Given the description of an element on the screen output the (x, y) to click on. 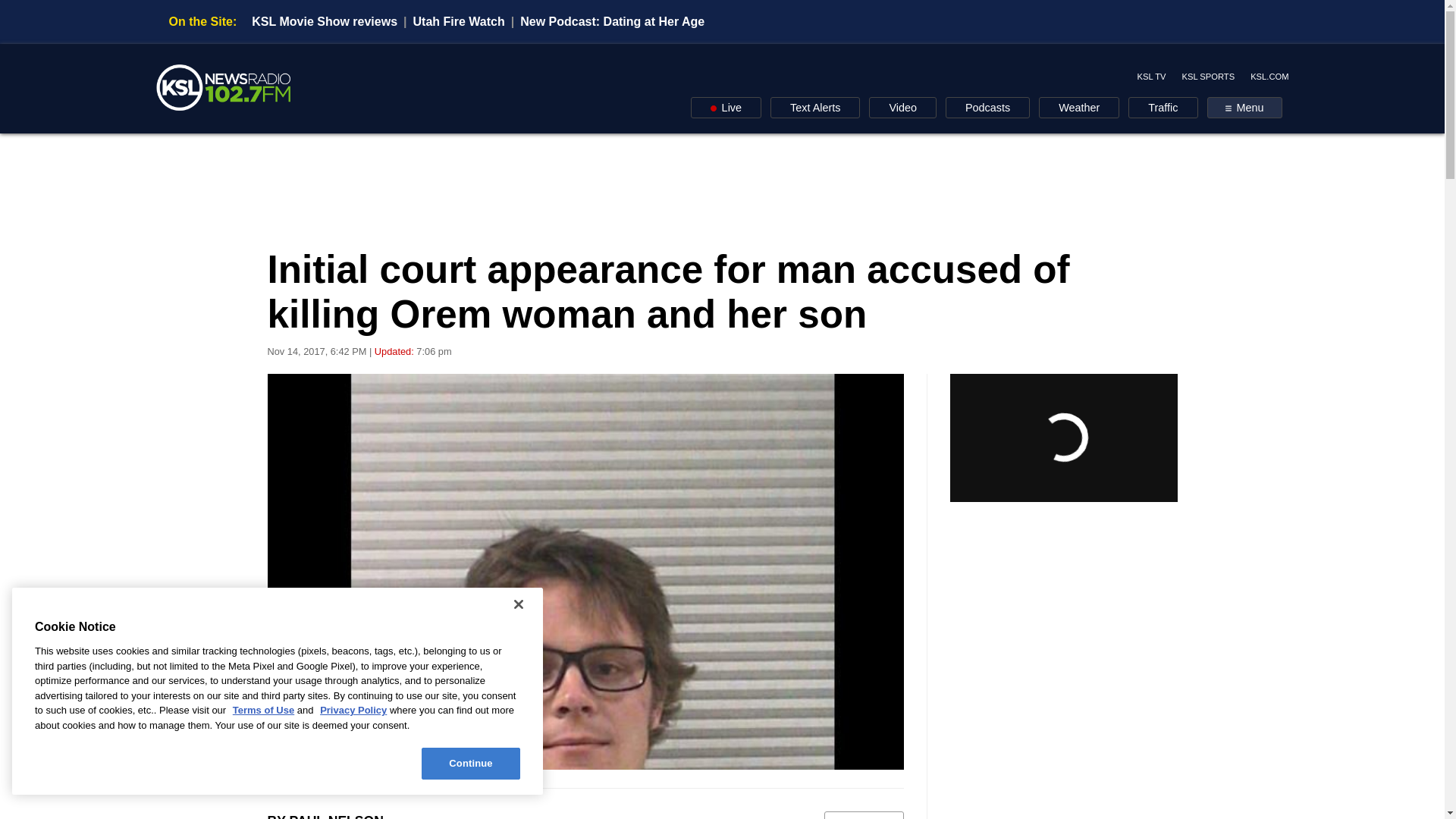
New Podcast: Dating at Her Age (611, 21)
KSL Movie Show reviews (324, 21)
Utah Fire Watch (459, 21)
